Given the description of an element on the screen output the (x, y) to click on. 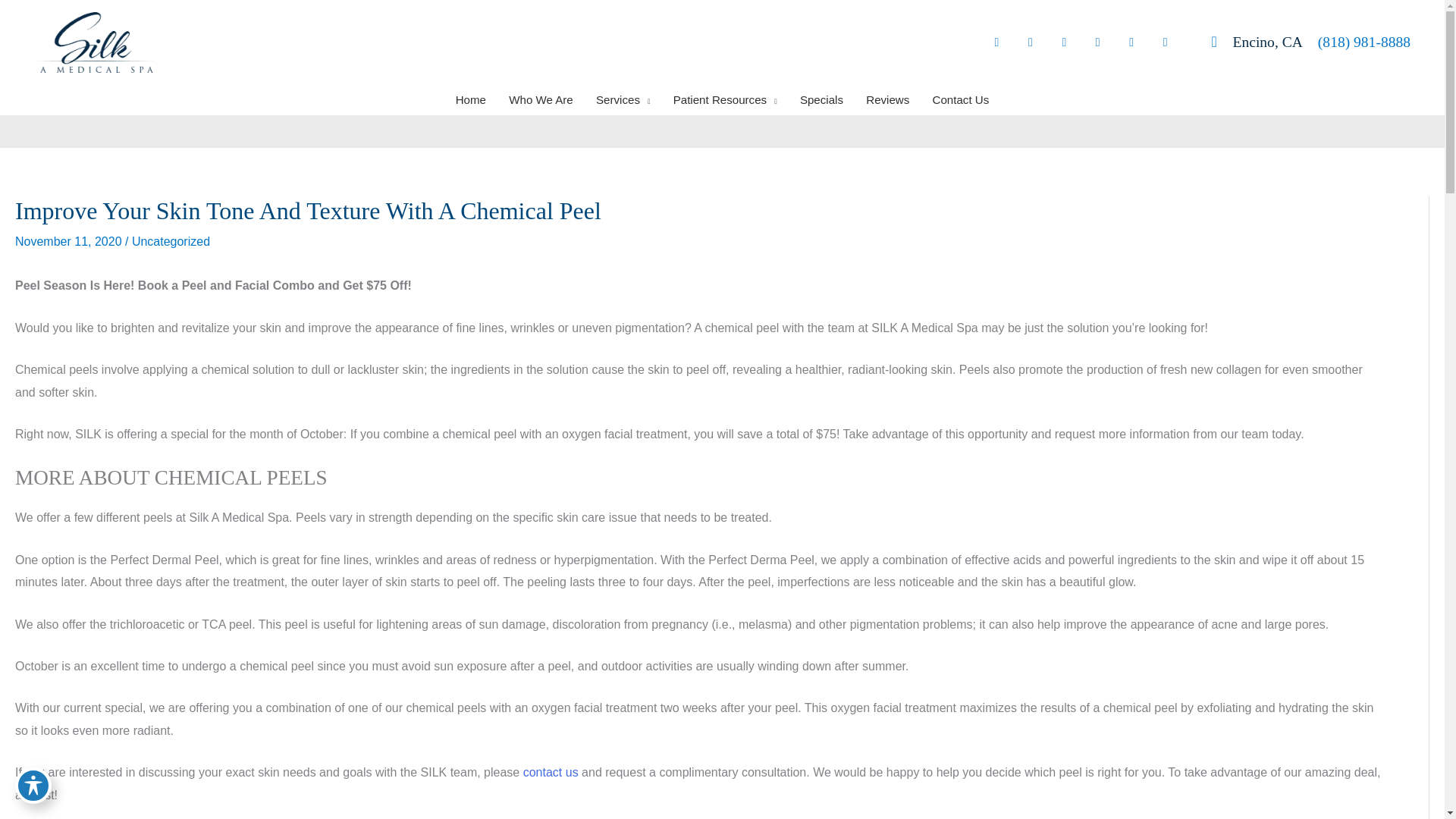
Who We Are (541, 100)
Services (623, 100)
Encino, CA (1249, 41)
Home (470, 100)
